Given the description of an element on the screen output the (x, y) to click on. 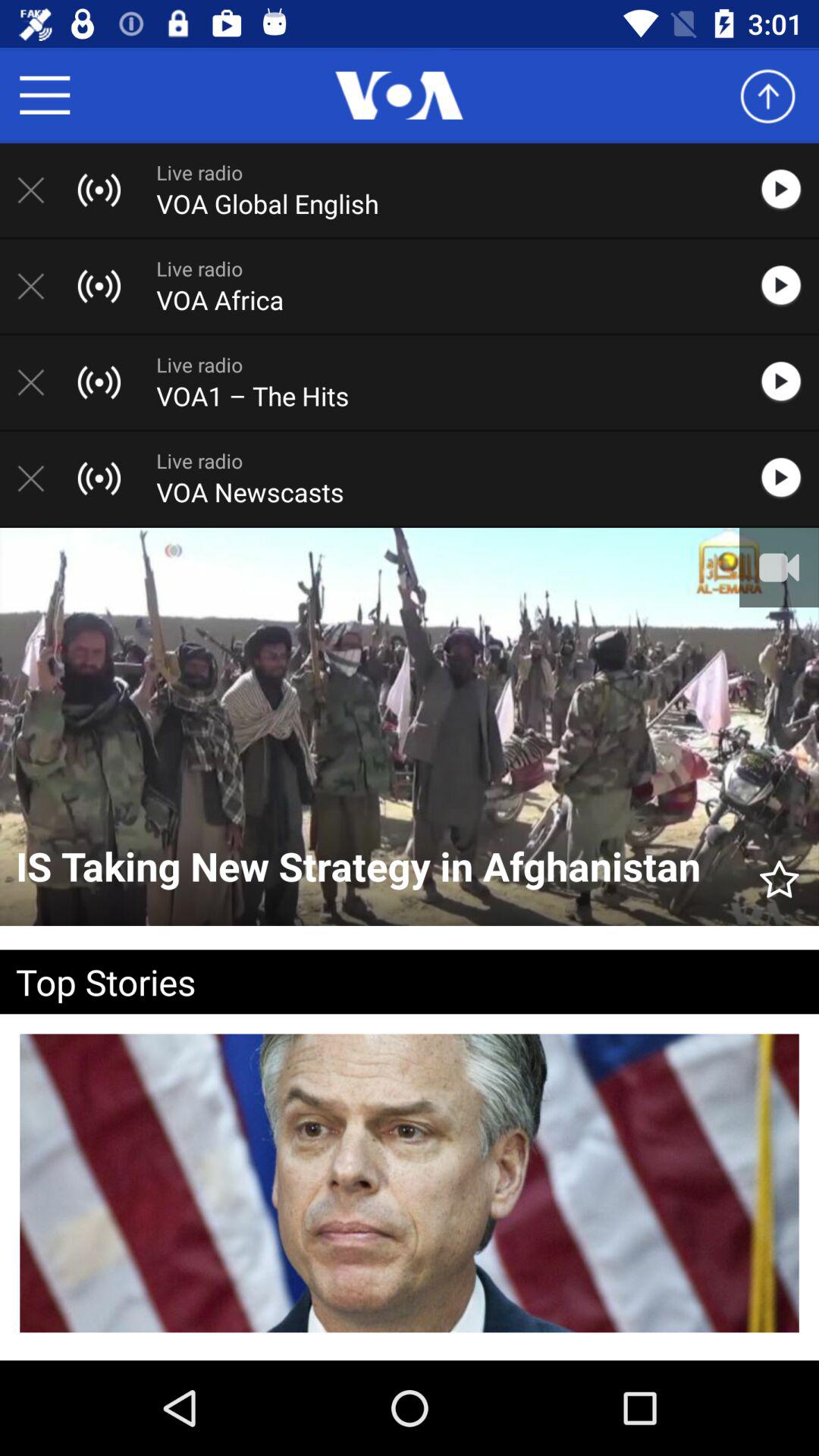
play (789, 189)
